Given the description of an element on the screen output the (x, y) to click on. 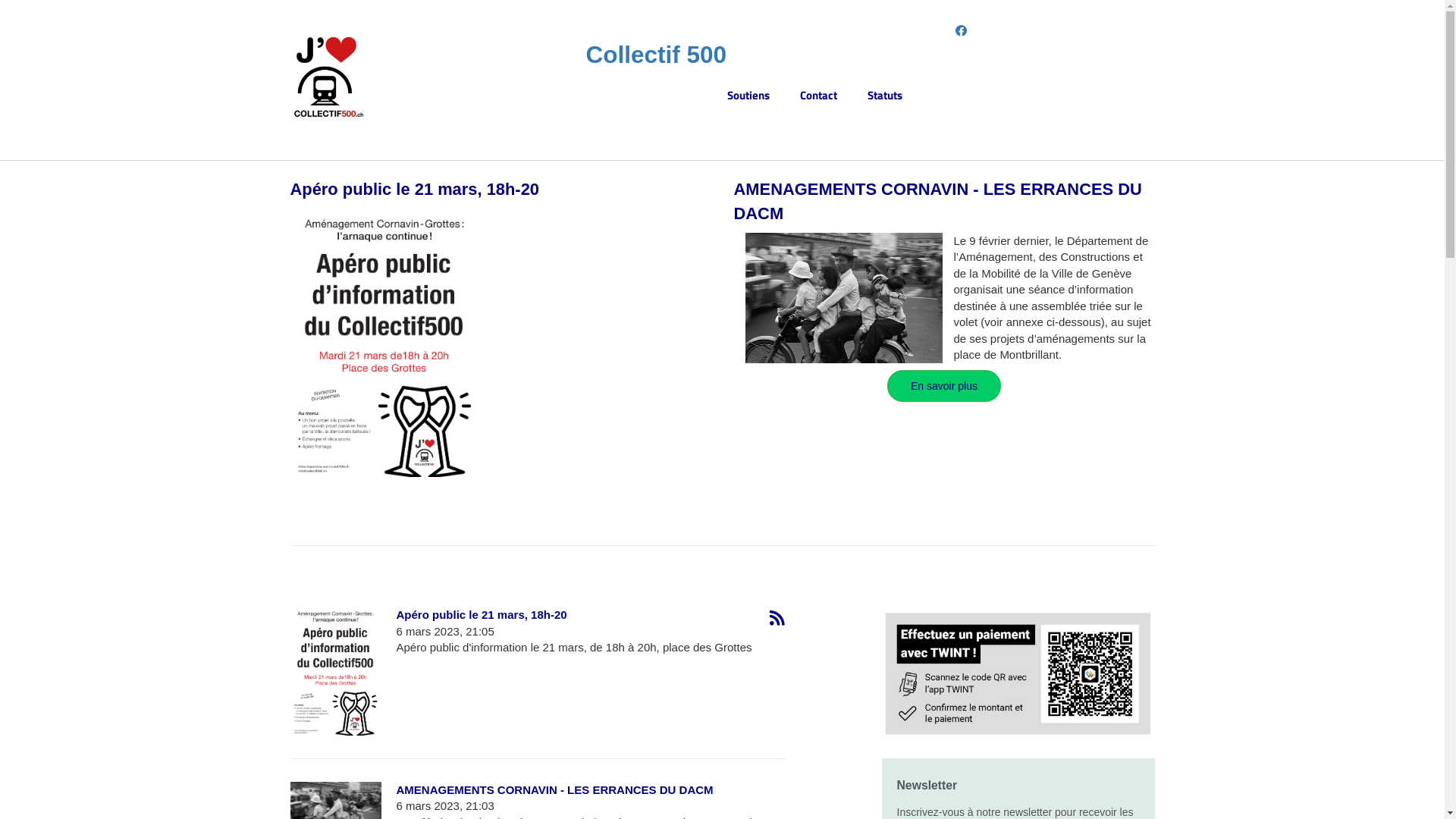
Facebook Element type: hover (960, 30)
En savoir plus Element type: text (943, 385)
AMENAGEMENTS CORNAVIN - LES ERRANCES DU DACM Element type: text (553, 789)
AMENAGEMENTS CORNAVIN - LES ERRANCES DU DACM Element type: text (938, 200)
Statuts Element type: text (899, 94)
Soutiens Element type: text (763, 94)
Contact Element type: text (833, 94)
Collectif 500 Element type: text (655, 54)
Photo: (c) Raymond Depardon, Saigon 1972 Element type: hover (842, 297)
